Given the description of an element on the screen output the (x, y) to click on. 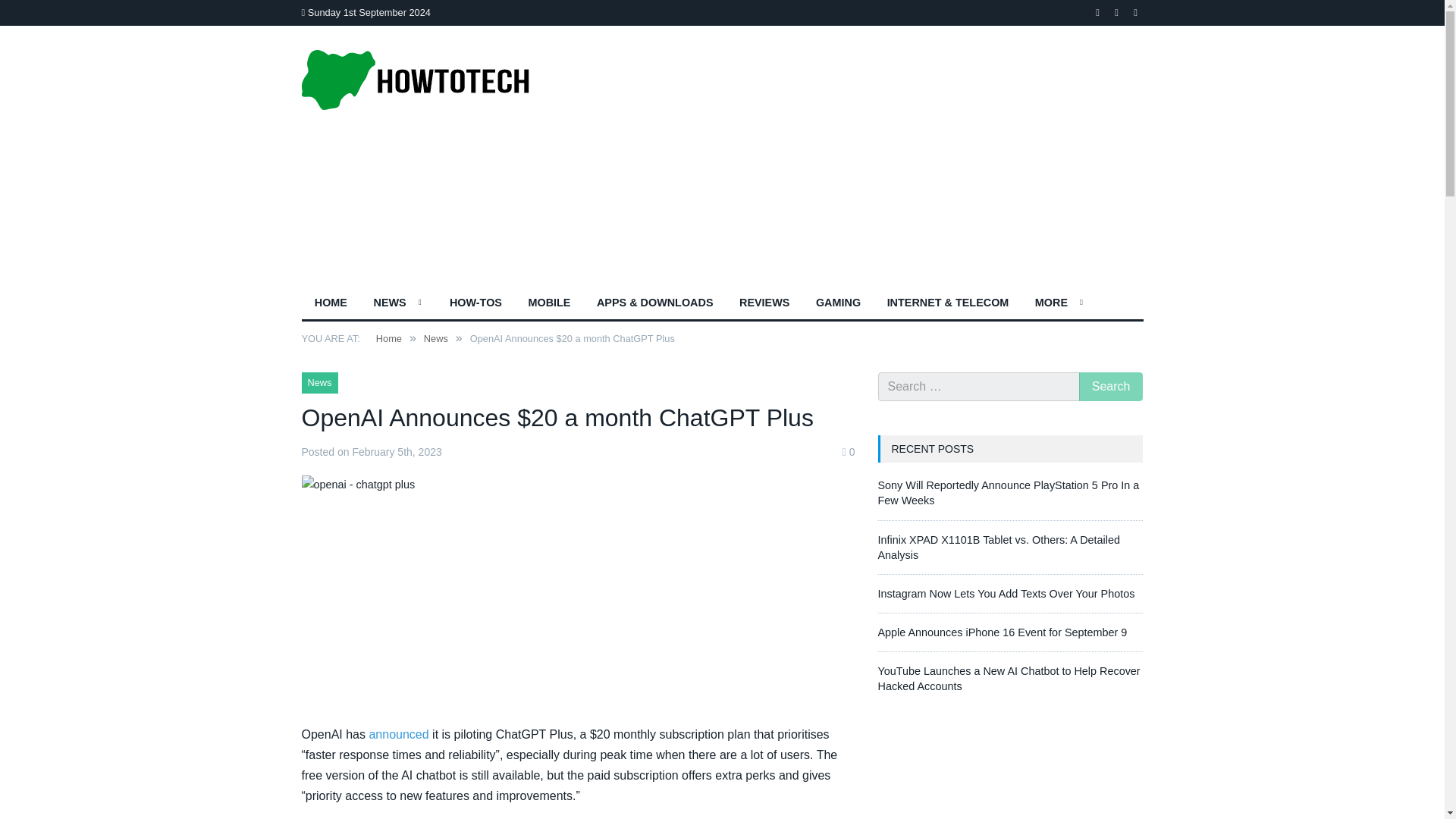
REVIEWS (764, 303)
HOW-TOS (475, 303)
HOME (331, 303)
NEWS (397, 303)
News (435, 337)
MOBILE (549, 303)
Search (1110, 386)
announced (398, 734)
GAMING (839, 303)
News (319, 382)
